Given the description of an element on the screen output the (x, y) to click on. 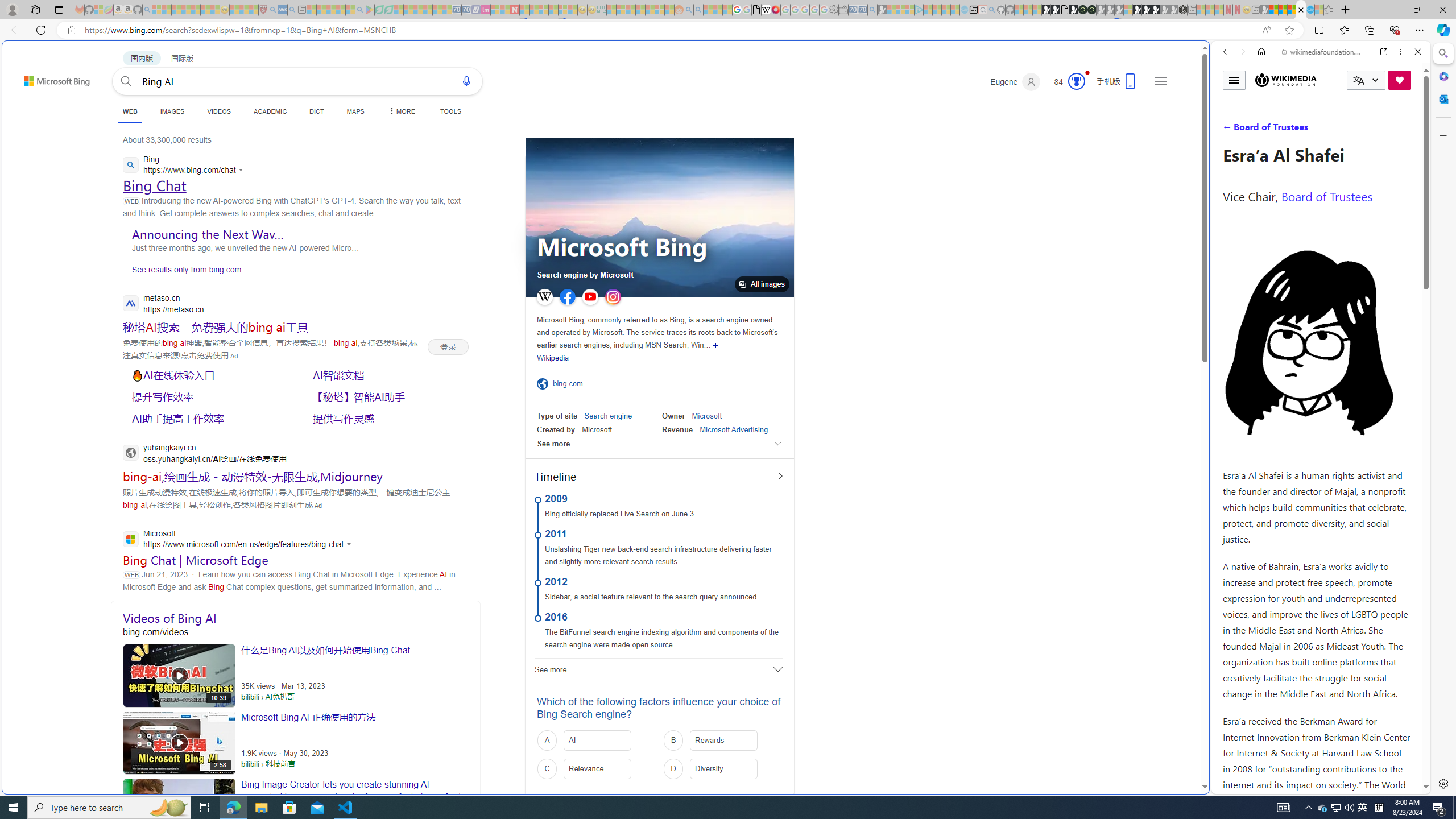
Microsoft Bing (622, 248)
Class: b_serphb (1404, 130)
Cheap Hotels - Save70.com - Sleeping (466, 9)
Bing Chat | Microsoft Edge (194, 559)
Instagram (613, 296)
Search Filter, WEB (1230, 129)
